Given the description of an element on the screen output the (x, y) to click on. 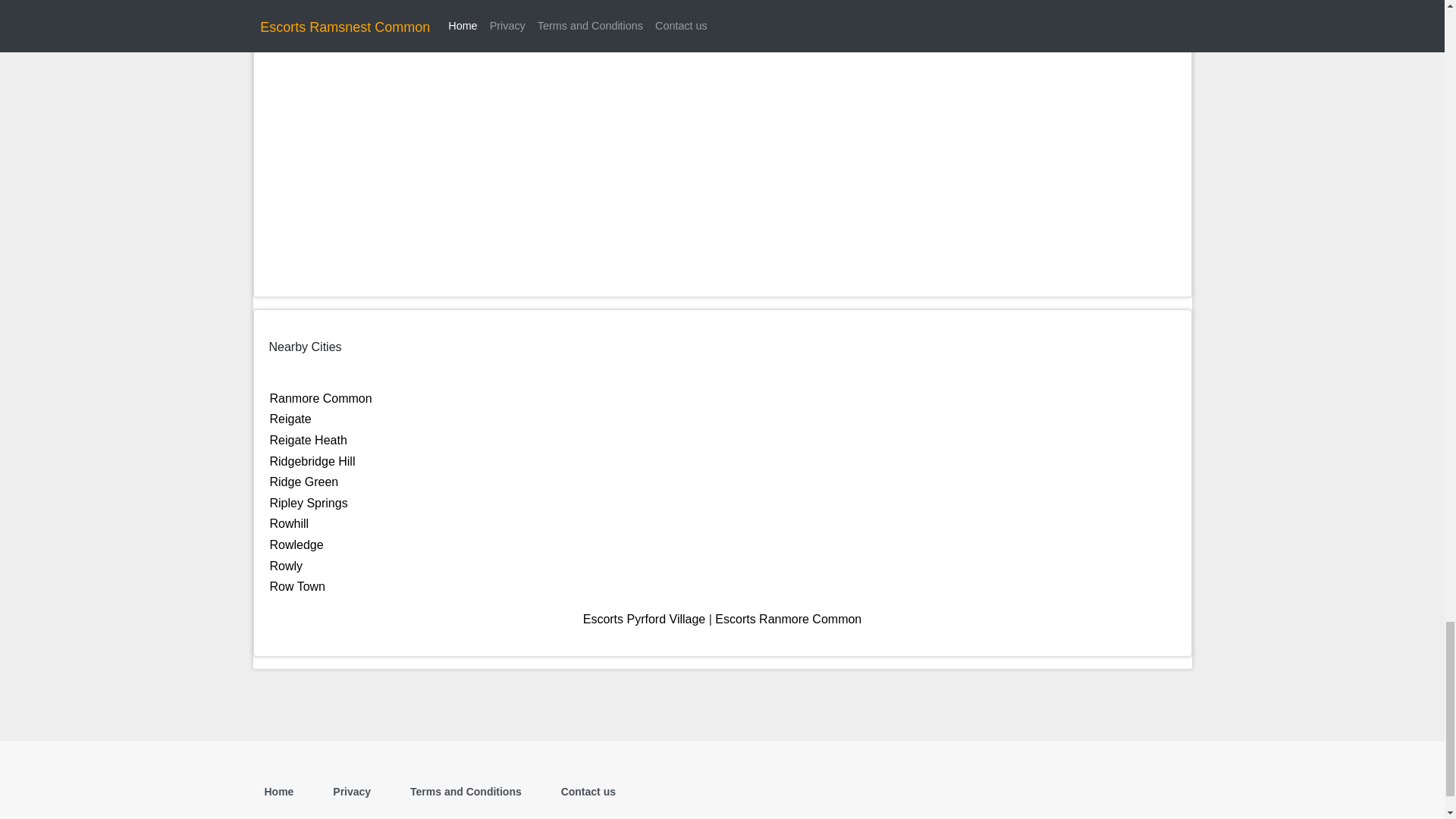
Rowly (285, 565)
Reigate Heath (308, 440)
Escorts Ranmore Common (787, 618)
Ranmore Common (320, 398)
Row Town (297, 585)
Escorts Pyrford Village (644, 618)
Ripley Springs (308, 502)
Rowhill (288, 522)
Reigate (290, 418)
Ridgebridge Hill (312, 461)
Ridge Green (304, 481)
Rowledge (296, 544)
